Given the description of an element on the screen output the (x, y) to click on. 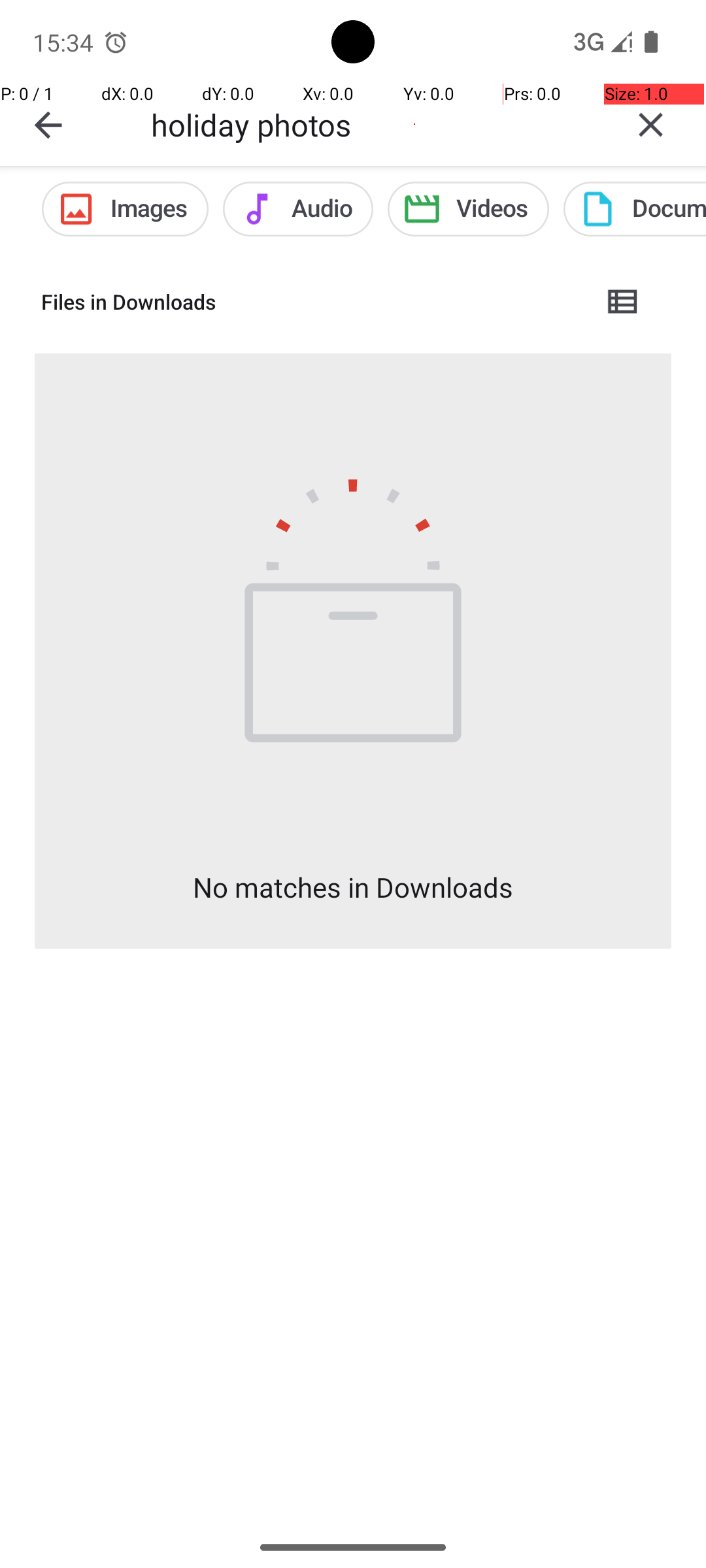
holiday photos Element type: android.widget.AutoCompleteTextView (373, 124)
